Given the description of an element on the screen output the (x, y) to click on. 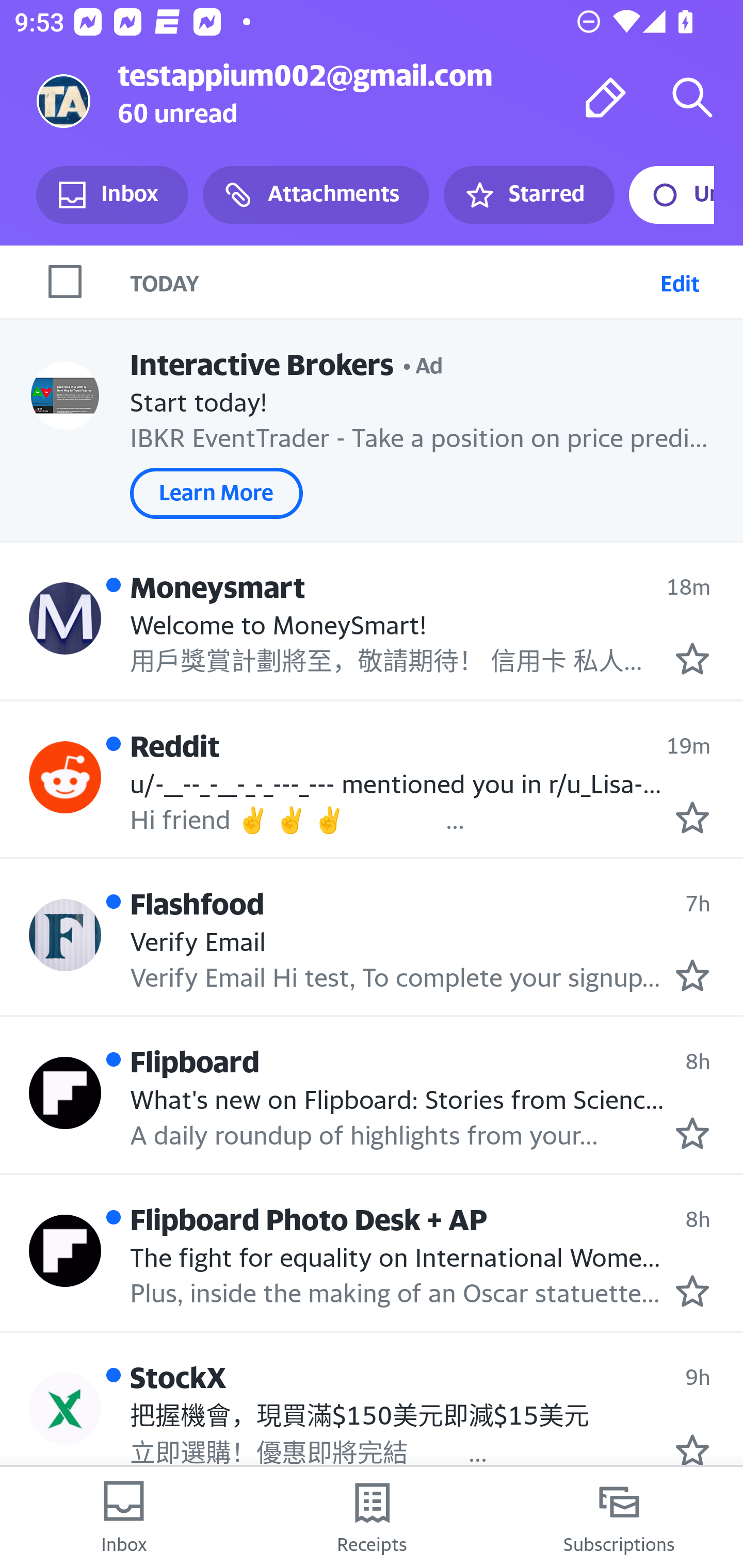
Compose (605, 97)
Search mail (692, 97)
Inbox (111, 195)
Attachments (315, 195)
Starred (528, 195)
TODAY (391, 281)
Edit Select emails (679, 281)
• Ad (422, 363)
Profile
Moneysmart (64, 617)
Mark as starred. (692, 659)
Profile
Reddit (64, 777)
Mark as starred. (692, 817)
Profile
Flashfood (64, 934)
Mark as starred. (692, 976)
Profile
Flipboard (64, 1092)
Mark as starred. (692, 1132)
Profile
Flipboard Photo Desk + AP (64, 1251)
Mark as starred. (692, 1291)
Profile
StockX (64, 1408)
Mark as starred. (692, 1450)
Inbox (123, 1517)
Receipts (371, 1517)
Subscriptions (619, 1517)
